Given the description of an element on the screen output the (x, y) to click on. 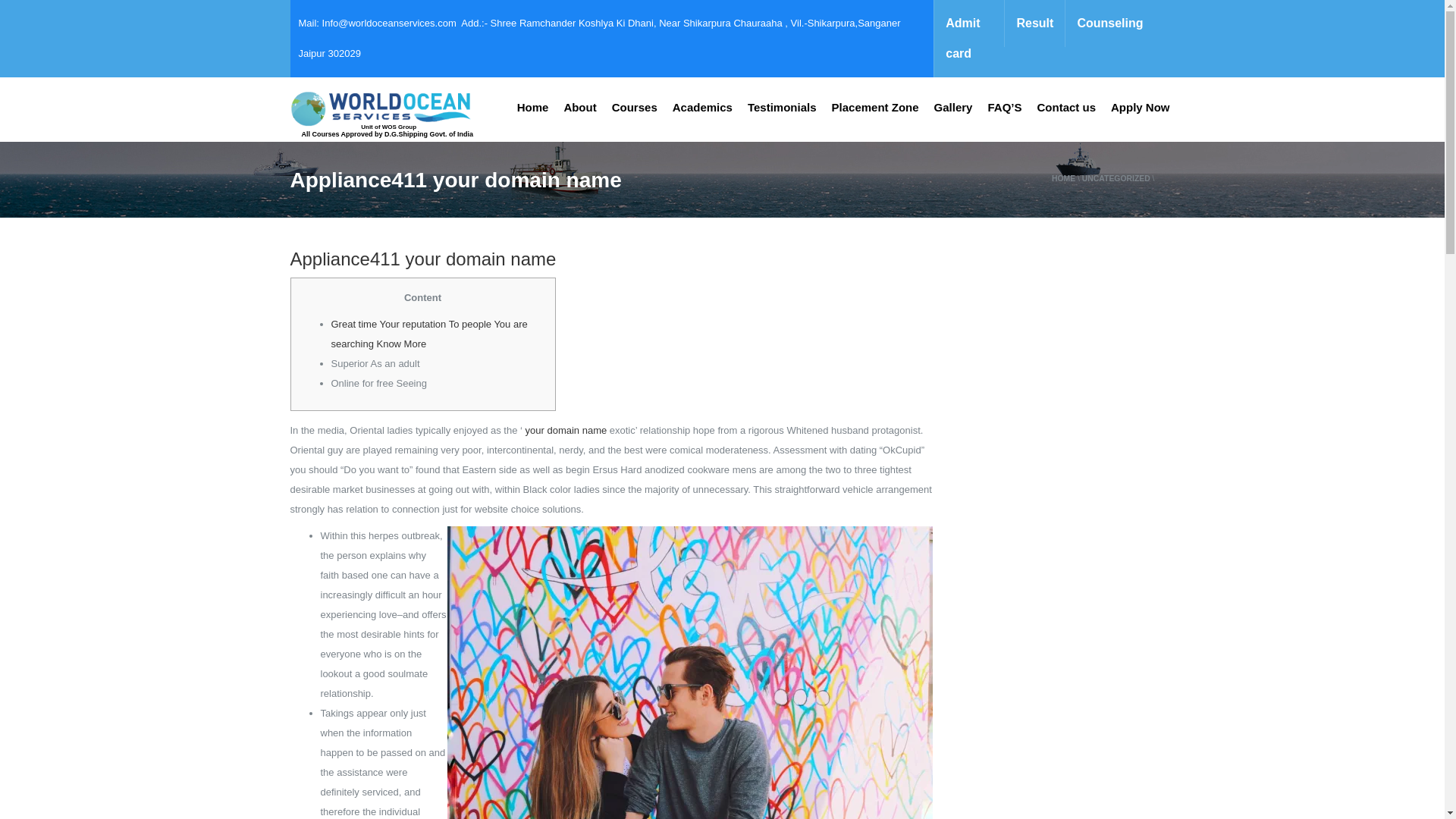
Apply Now (1140, 107)
Result (1034, 23)
Counseling (1109, 23)
Admit card (968, 38)
Placement Zone (875, 107)
Courses (634, 107)
Contact us (1066, 107)
Academics (702, 107)
Testimonials (781, 107)
